Given the description of an element on the screen output the (x, y) to click on. 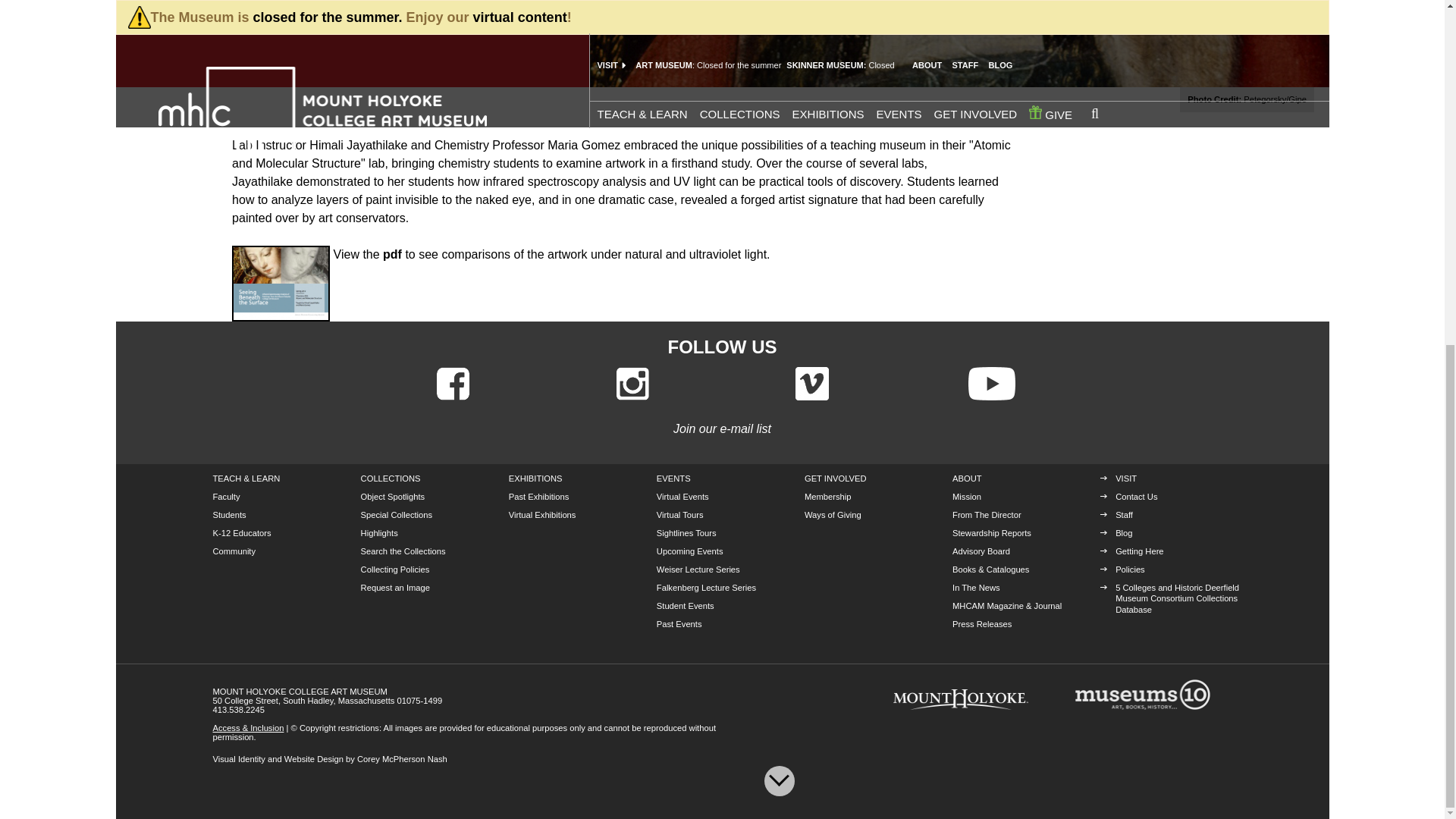
5 Colleges and Historic Deerfield Collections Database (1177, 598)
Current Exhibitions (535, 478)
Community (234, 551)
Staff (1123, 514)
Faculty (226, 496)
Seeing Beneath the Surface pdf (280, 283)
Past Exhibitions (538, 496)
Get Involved Overview (835, 478)
K12 Educators (241, 532)
Highlights (379, 532)
Students (229, 514)
